Given the description of an element on the screen output the (x, y) to click on. 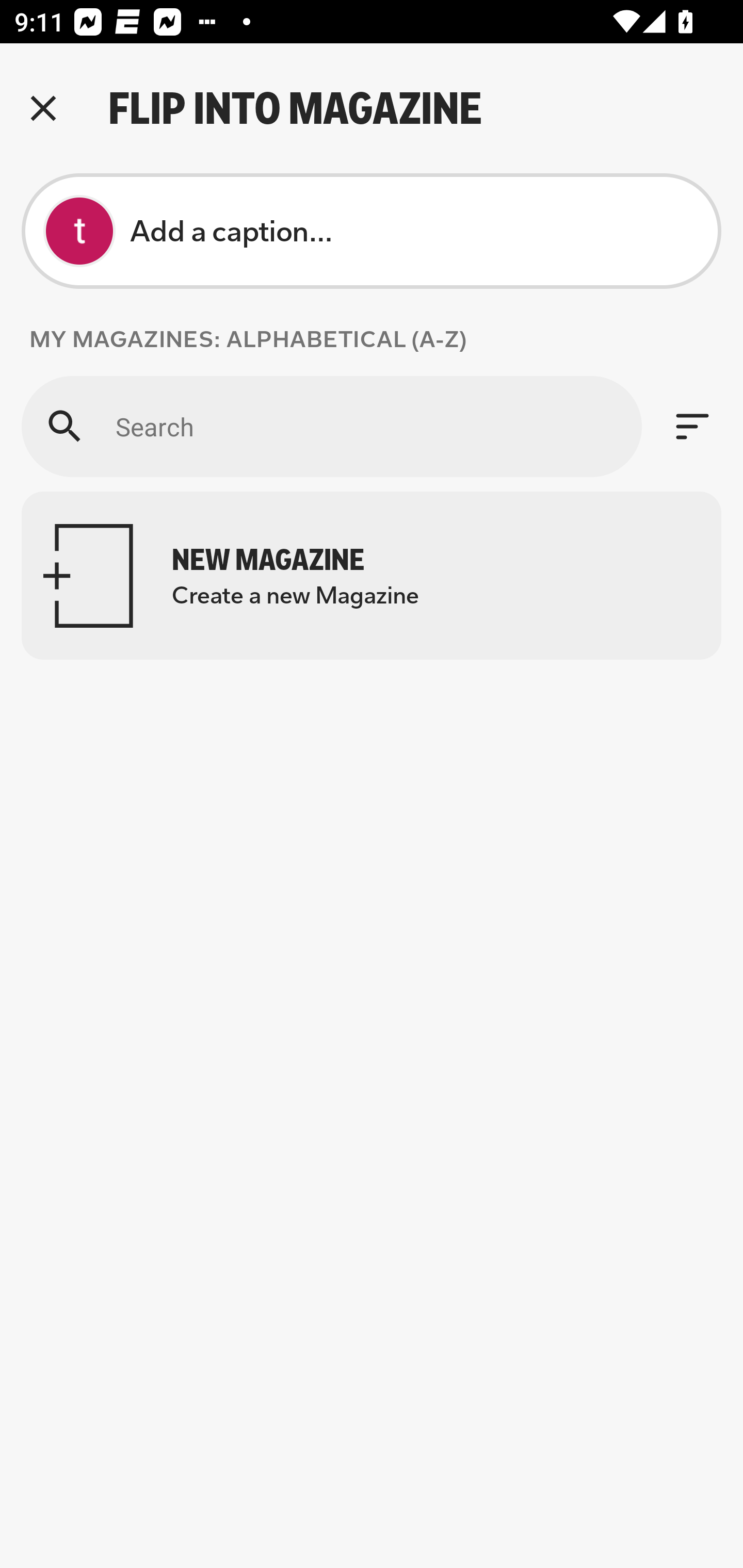
test appium Add a caption… (371, 231)
Search (331, 426)
NEW MAGAZINE Create a new Magazine (371, 575)
